Given the description of an element on the screen output the (x, y) to click on. 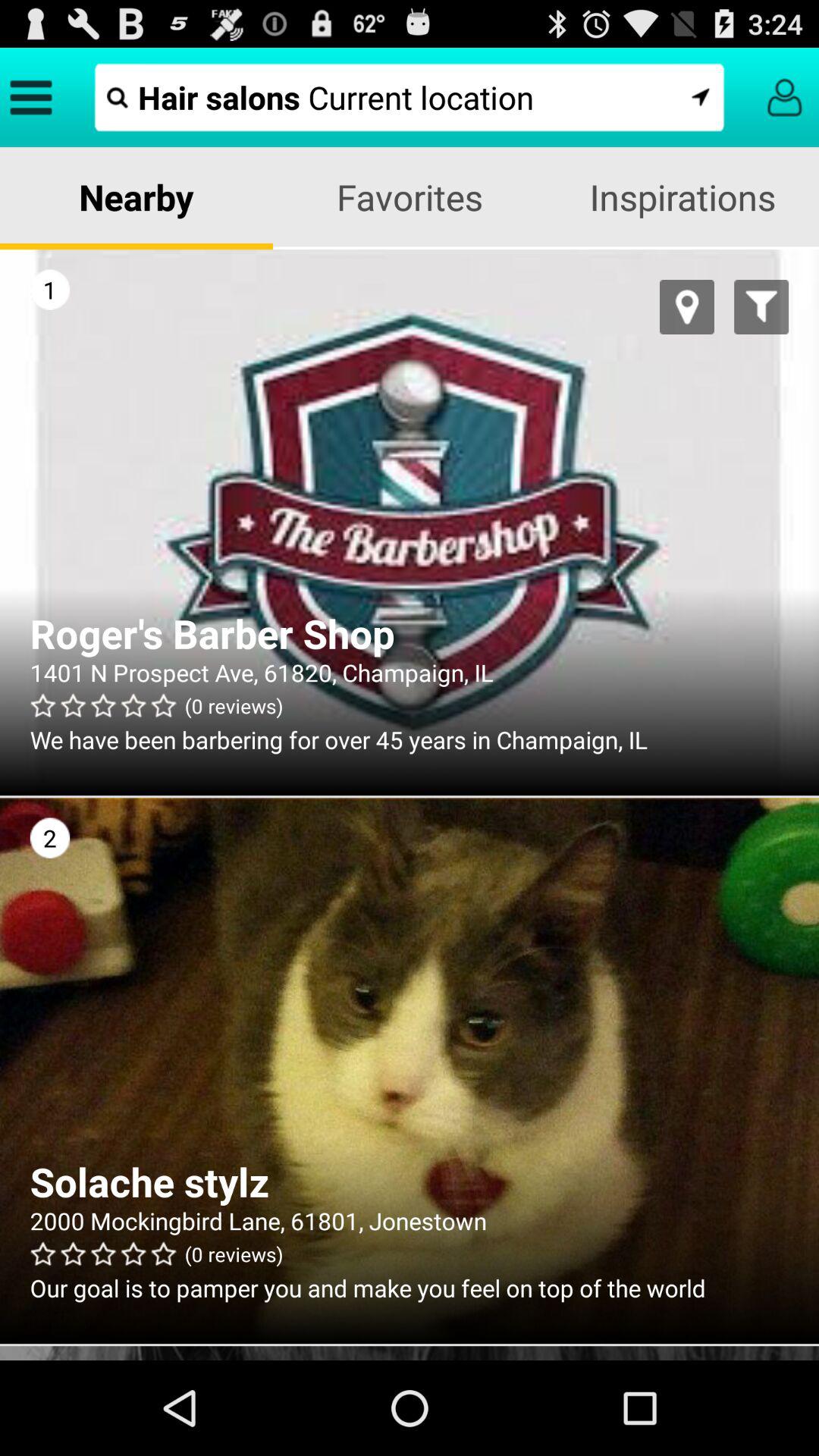
choose the favorites app (409, 196)
